Given the description of an element on the screen output the (x, y) to click on. 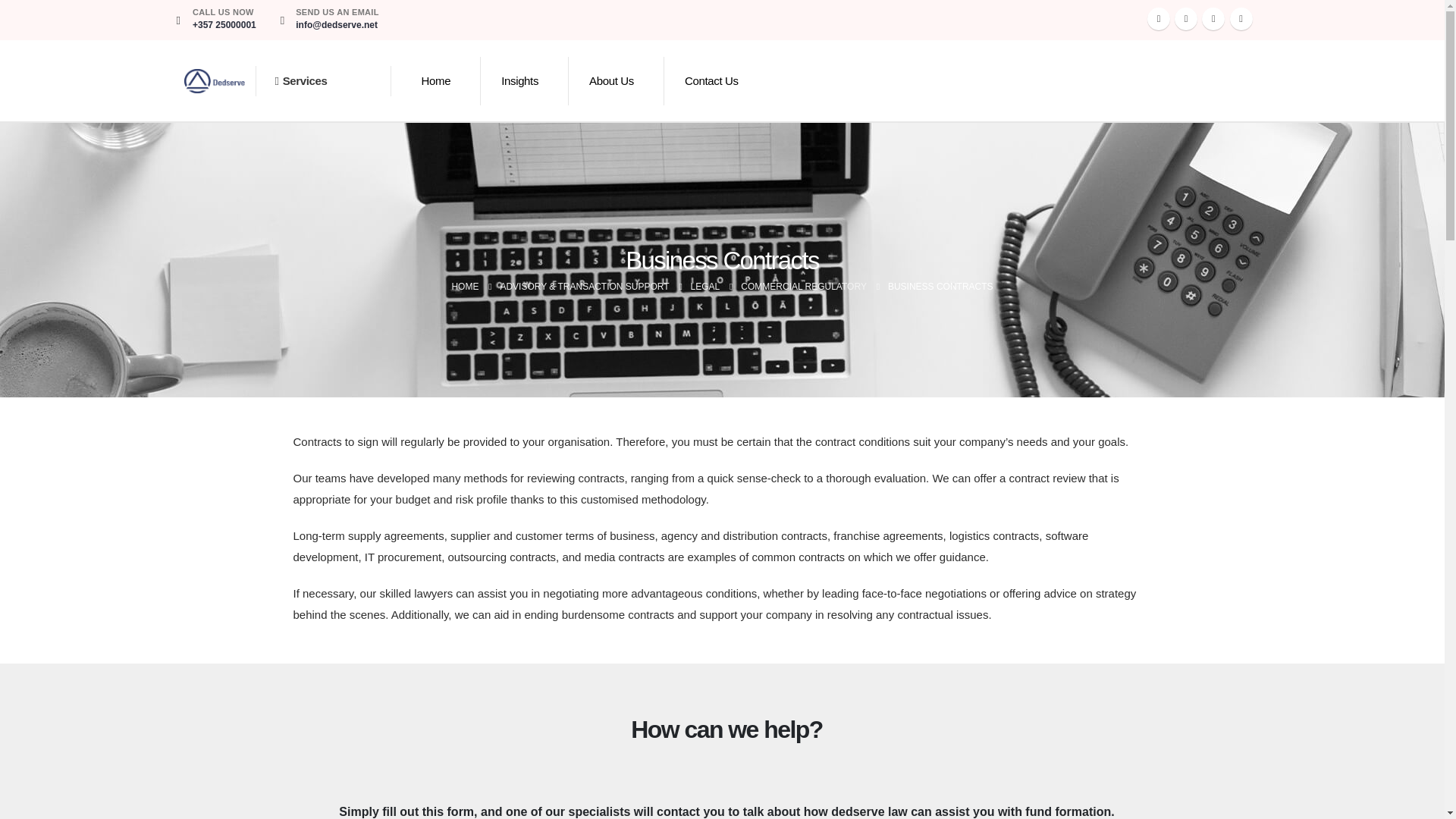
Instagram (1213, 18)
LinkedIn (1241, 18)
Dedserve - Corporate Business Service Provider (213, 81)
Go to Home Page (465, 286)
Facebook (1158, 18)
Twitter (1185, 18)
